Given the description of an element on the screen output the (x, y) to click on. 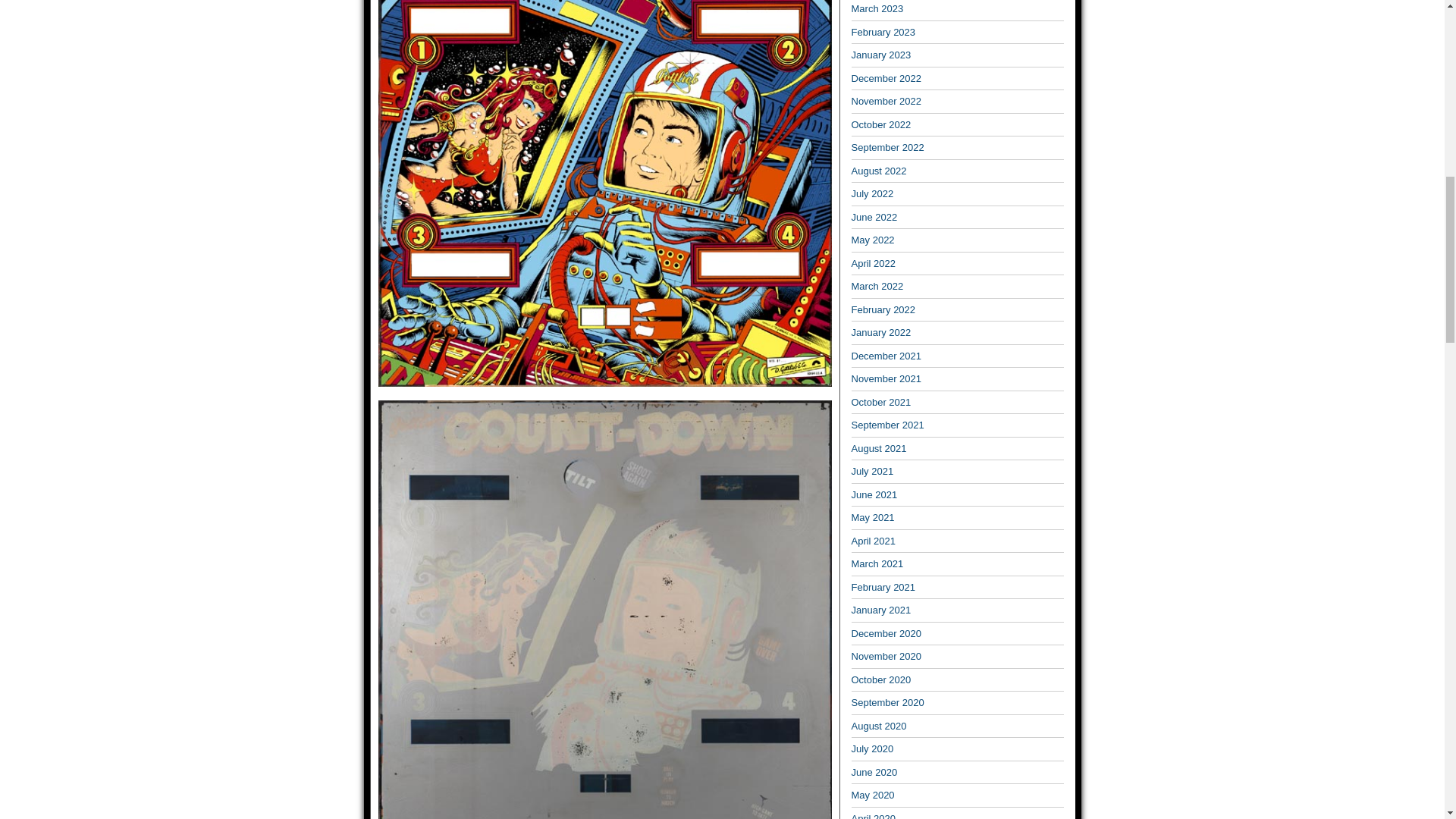
January 2023 (880, 54)
December 2022 (885, 78)
October 2022 (880, 124)
March 2023 (876, 8)
February 2023 (882, 31)
November 2022 (885, 101)
August 2022 (877, 170)
September 2022 (886, 147)
July 2022 (871, 193)
